Given the description of an element on the screen output the (x, y) to click on. 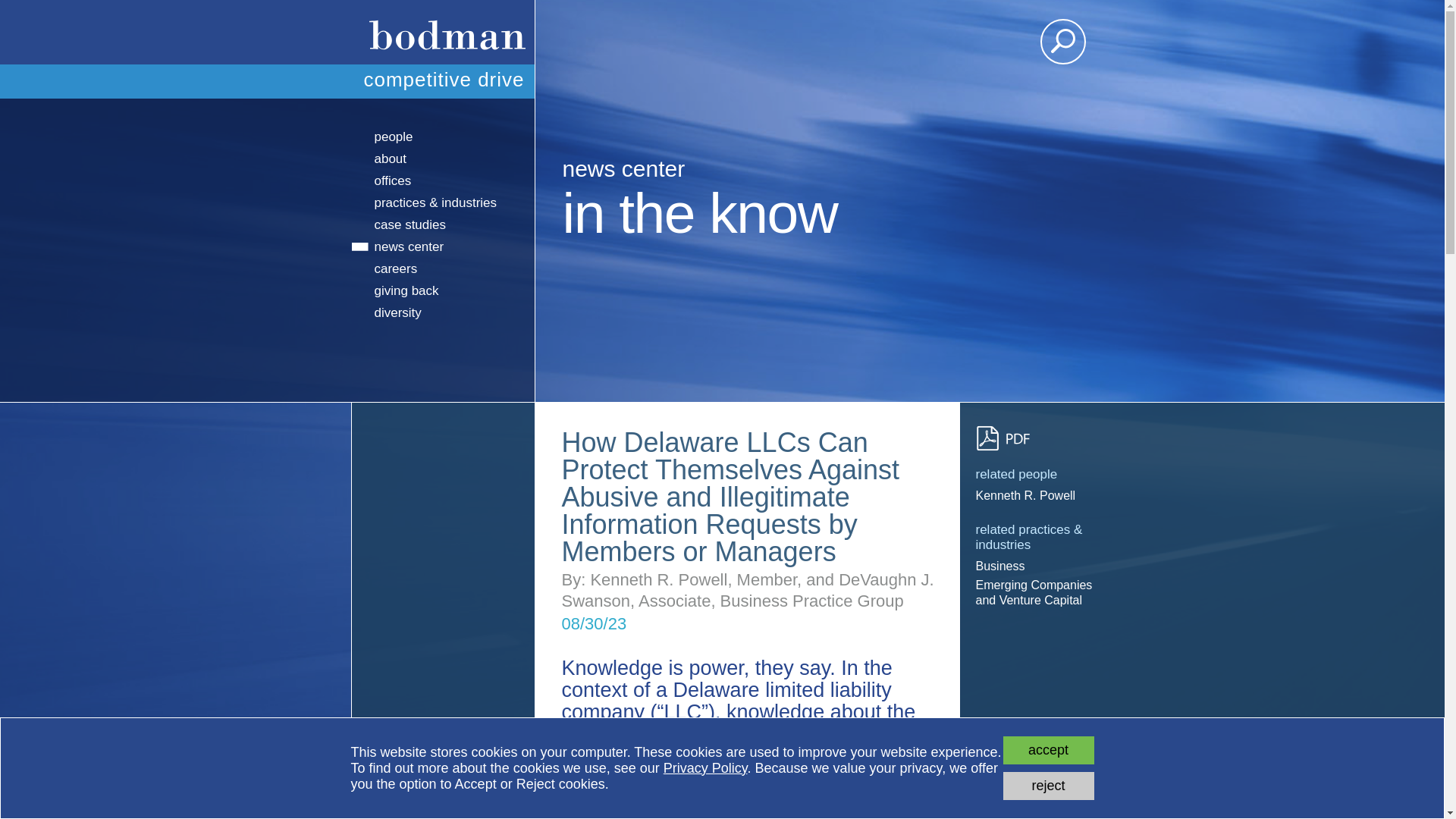
offices (443, 180)
Bodman (442, 32)
PDF (1009, 438)
Emerging Companies and Venture Capital (1034, 593)
accept (1048, 750)
Privacy Policy (705, 767)
people (443, 137)
Business (1034, 566)
reject (1048, 786)
about (443, 158)
Kenneth R. Powell (1034, 495)
